Given the description of an element on the screen output the (x, y) to click on. 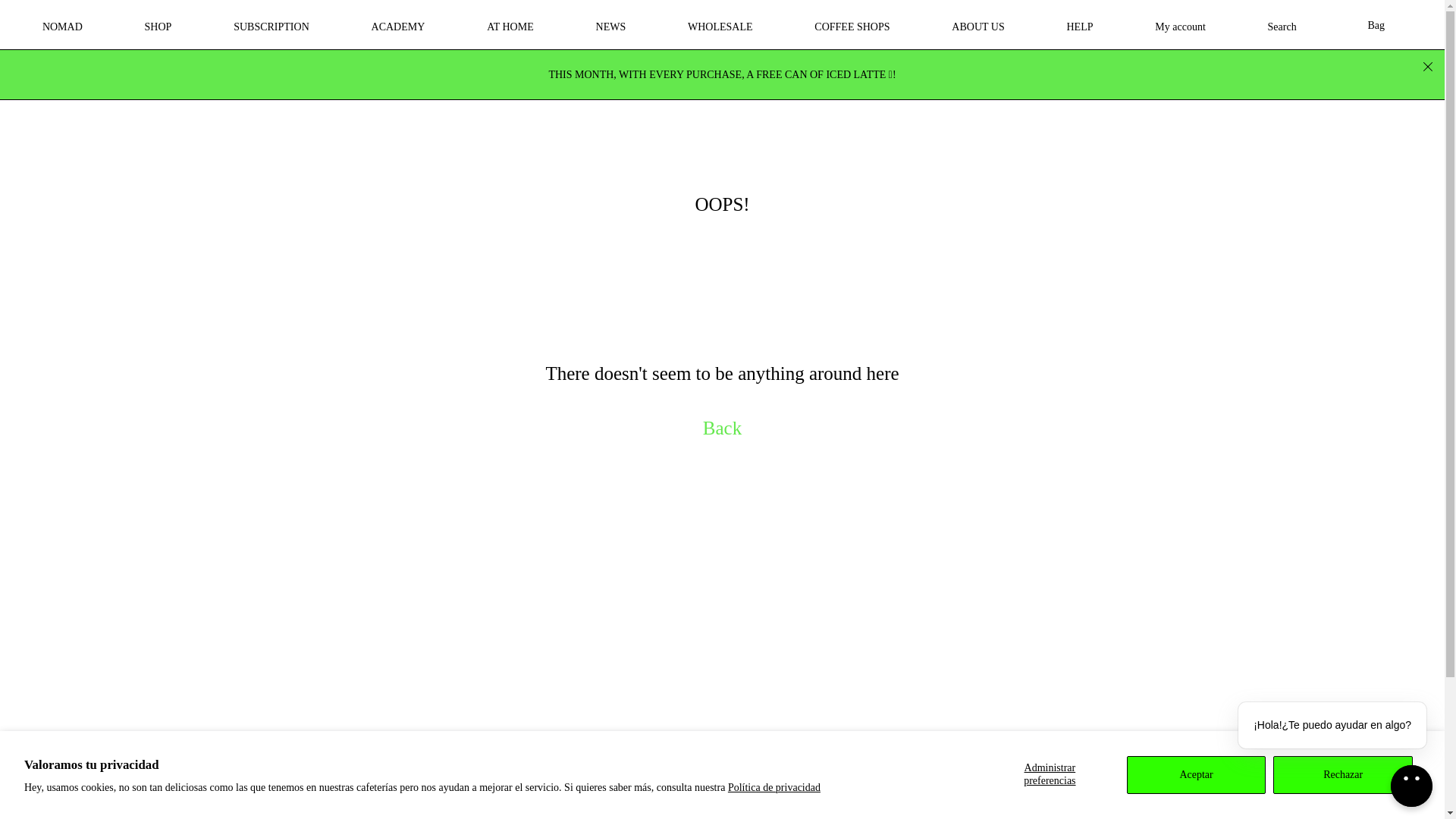
Rechazar (1342, 774)
NEWS (610, 26)
Search (1282, 26)
ABOUT US (977, 26)
SUBSCRIPTION (271, 26)
NOMAD (62, 26)
ACADEMY (397, 26)
COFFEE SHOPS (851, 26)
AT HOME (510, 26)
Administrar preferencias (1049, 774)
Aceptar (1196, 774)
Bag (1379, 26)
WHOLESALE (719, 26)
My account (1179, 26)
